Given the description of an element on the screen output the (x, y) to click on. 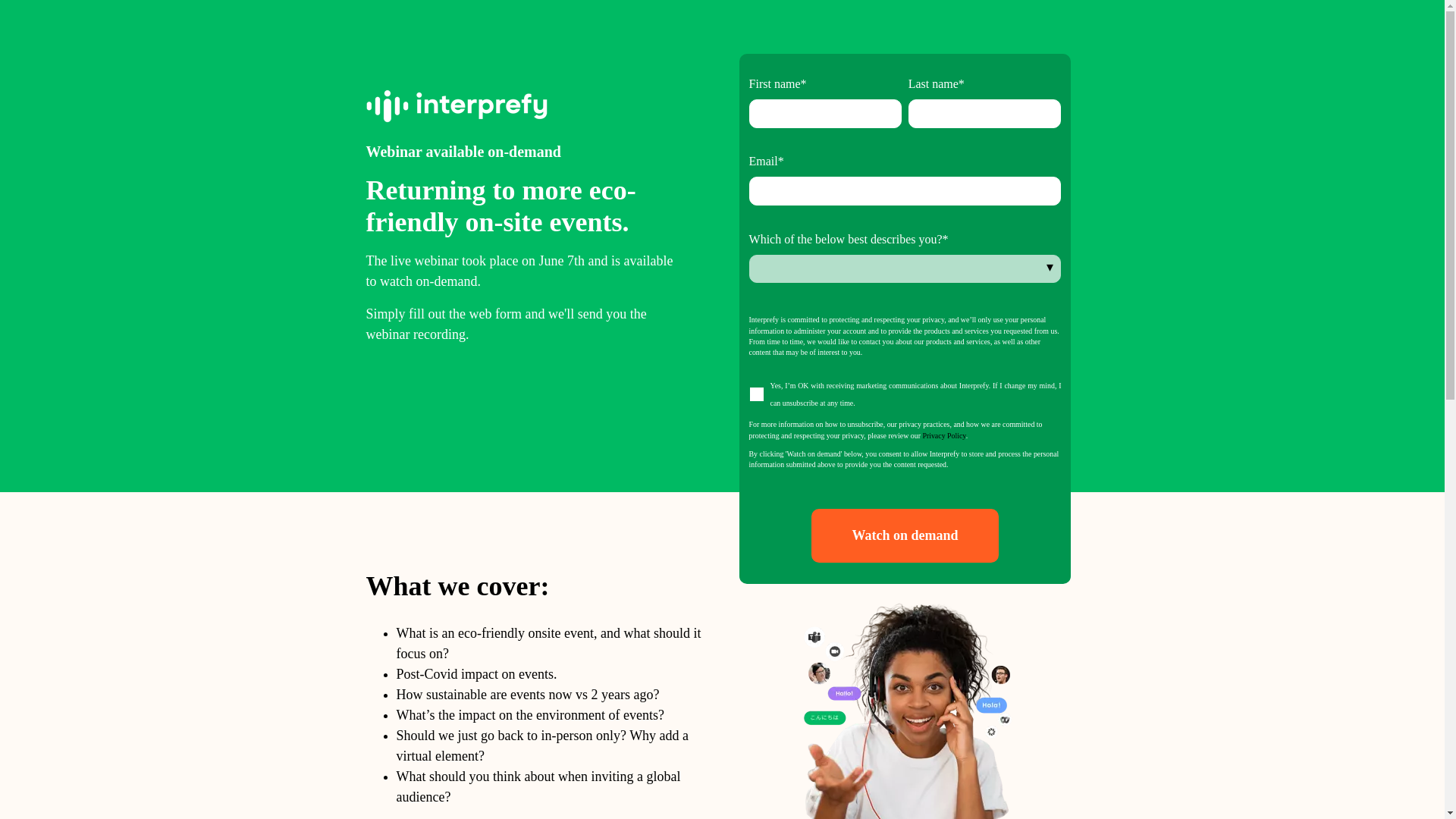
Watch on demand (903, 535)
Privacy Policy (943, 435)
Watch on demand (903, 535)
